Given the description of an element on the screen output the (x, y) to click on. 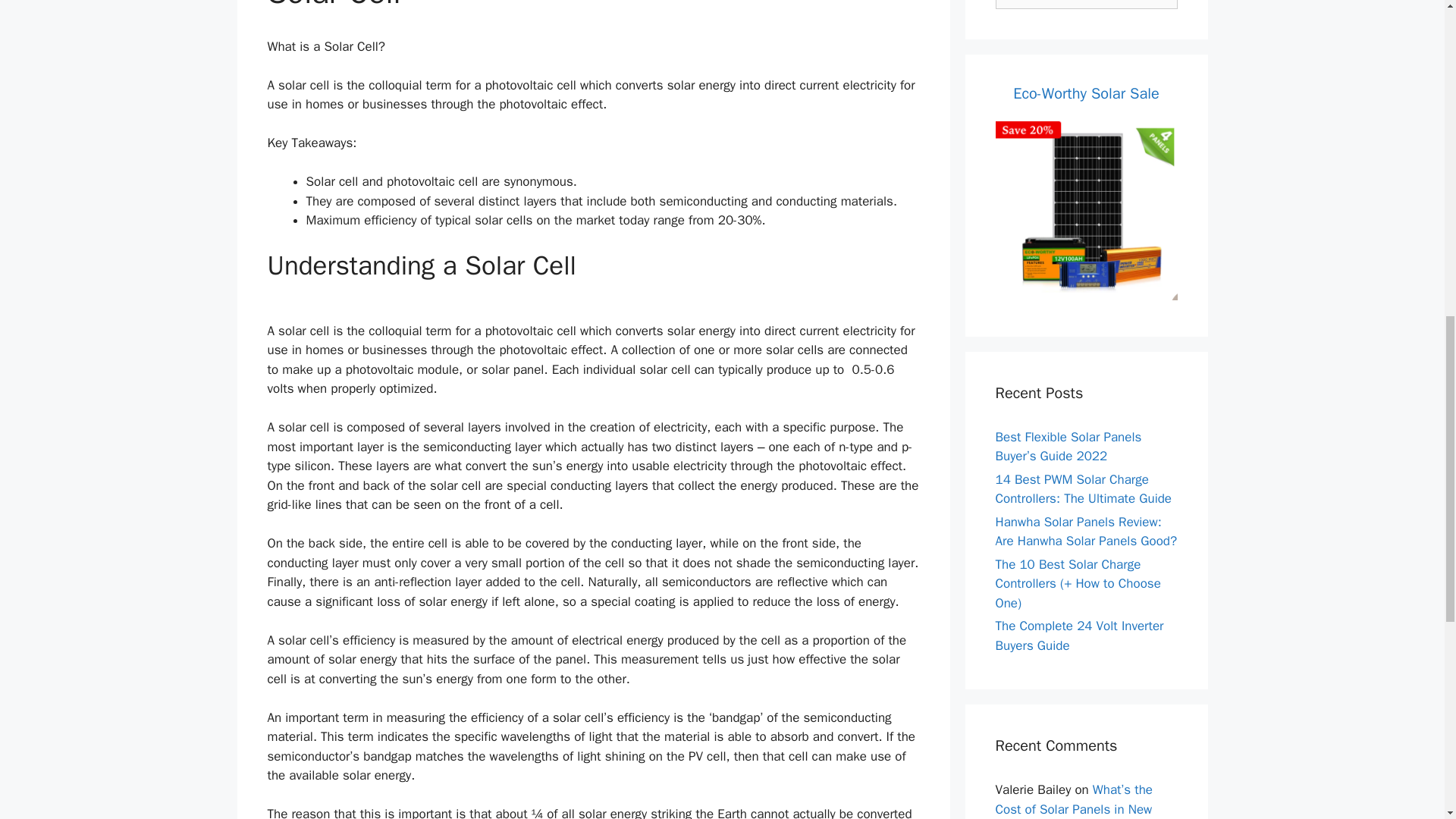
The Complete 24 Volt Inverter Buyers Guide (1078, 635)
Search for: (1085, 4)
Hanwha Solar Panels Review: Are Hanwha Solar Panels Good? (1085, 531)
14 Best PWM Solar Charge Controllers: The Ultimate Guide (1083, 488)
